Given the description of an element on the screen output the (x, y) to click on. 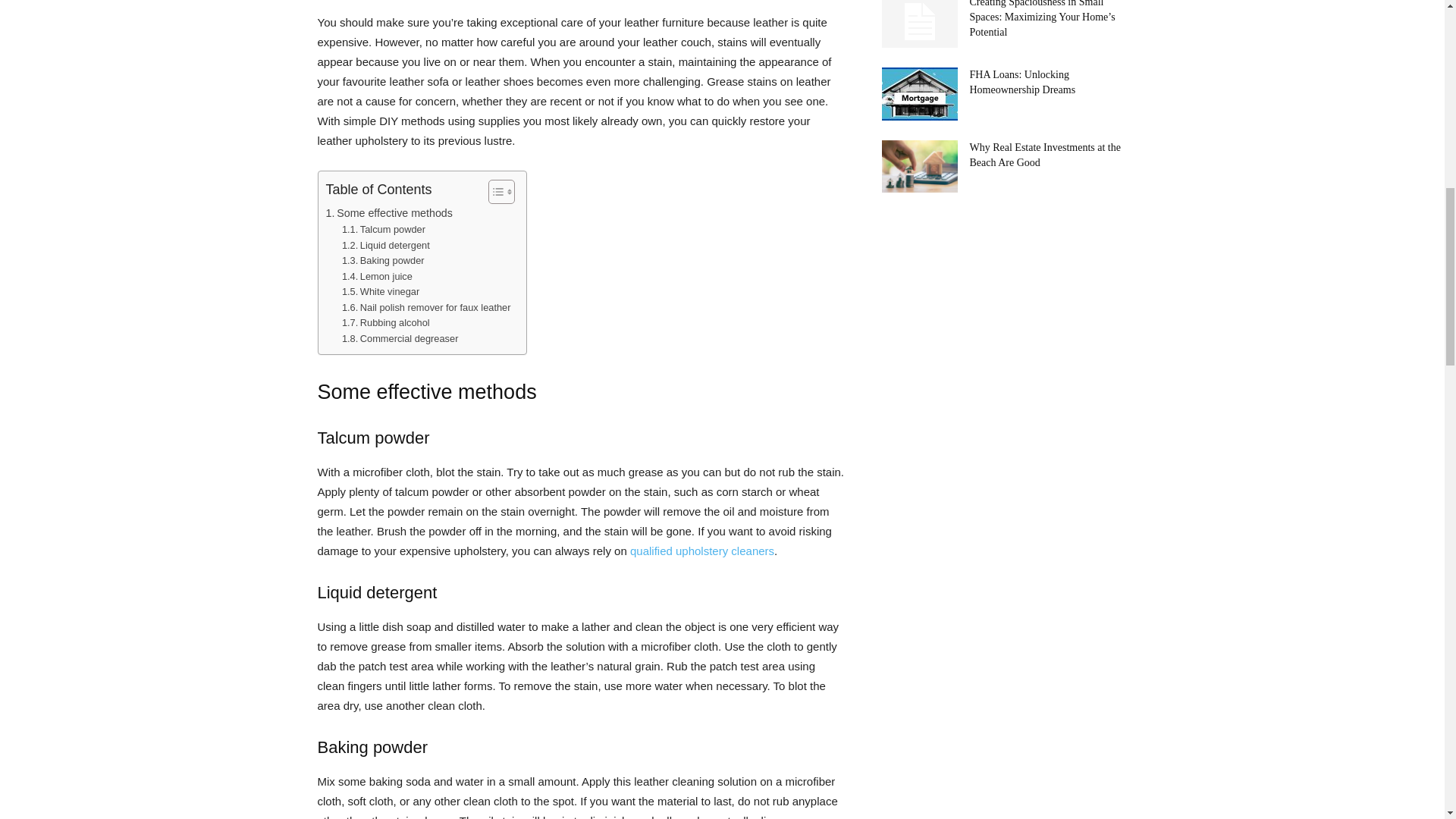
Liquid detergent (385, 245)
Some effective methods (389, 212)
Talcum powder (383, 229)
